Given the description of an element on the screen output the (x, y) to click on. 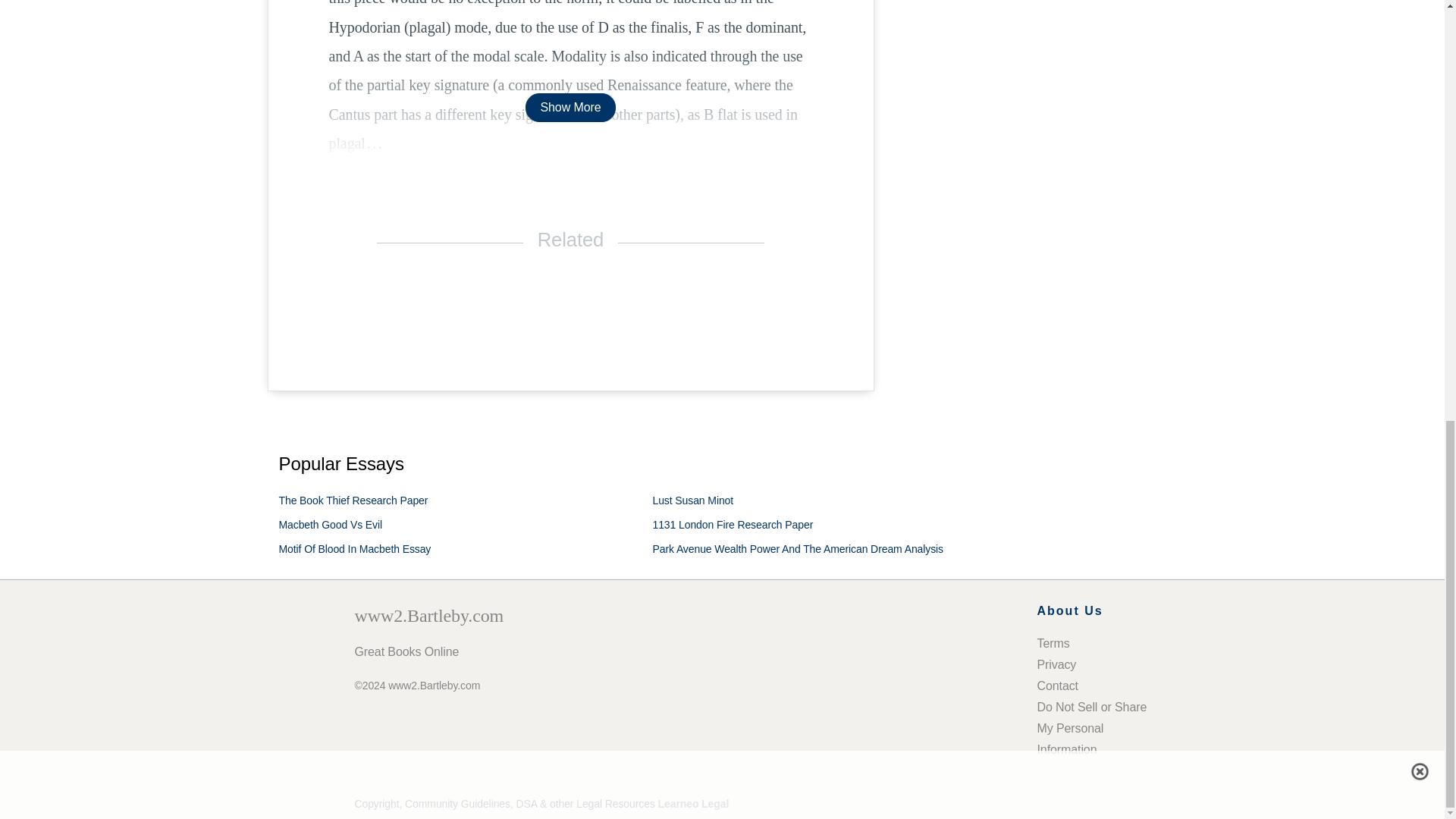
Learneo Legal (693, 803)
Motif Of Blood In Macbeth Essay (354, 548)
Terms (1053, 643)
Macbeth Good Vs Evil (330, 524)
The Book Thief Research Paper (353, 500)
Motif Of Blood In Macbeth Essay (354, 548)
1131 London Fire Research Paper (732, 524)
Privacy (1056, 664)
Park Avenue Wealth Power And The American Dream Analysis (797, 548)
Show More (569, 107)
Park Avenue Wealth Power And The American Dream Analysis (797, 548)
Contact (1057, 685)
Lust Susan Minot (692, 500)
The Book Thief Research Paper (353, 500)
Lust Susan Minot (692, 500)
